Given the description of an element on the screen output the (x, y) to click on. 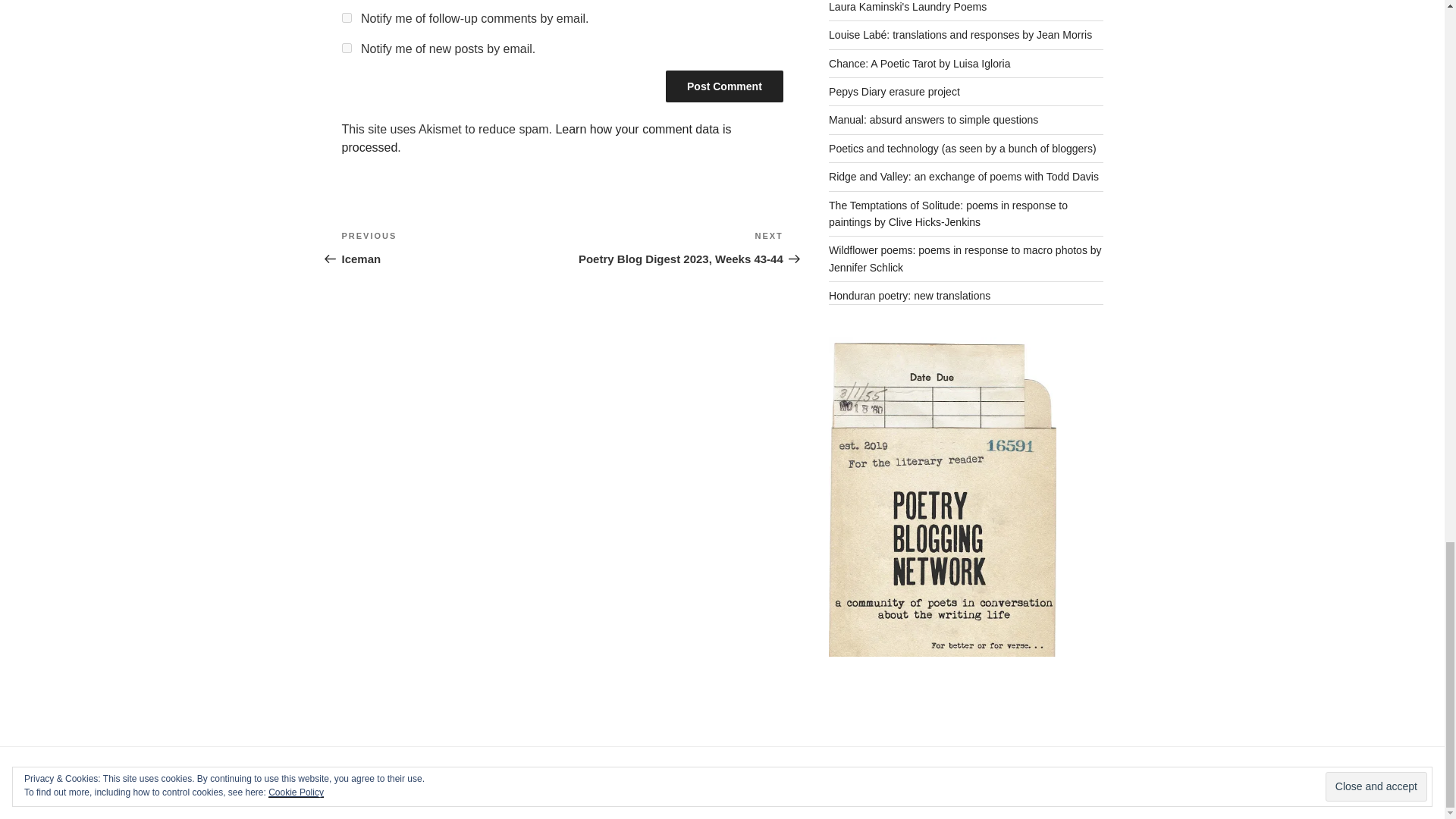
Post Comment (724, 86)
subscribe (451, 248)
Learn how your comment data is processed (345, 17)
subscribe (535, 137)
Post Comment (345, 48)
